Given the description of an element on the screen output the (x, y) to click on. 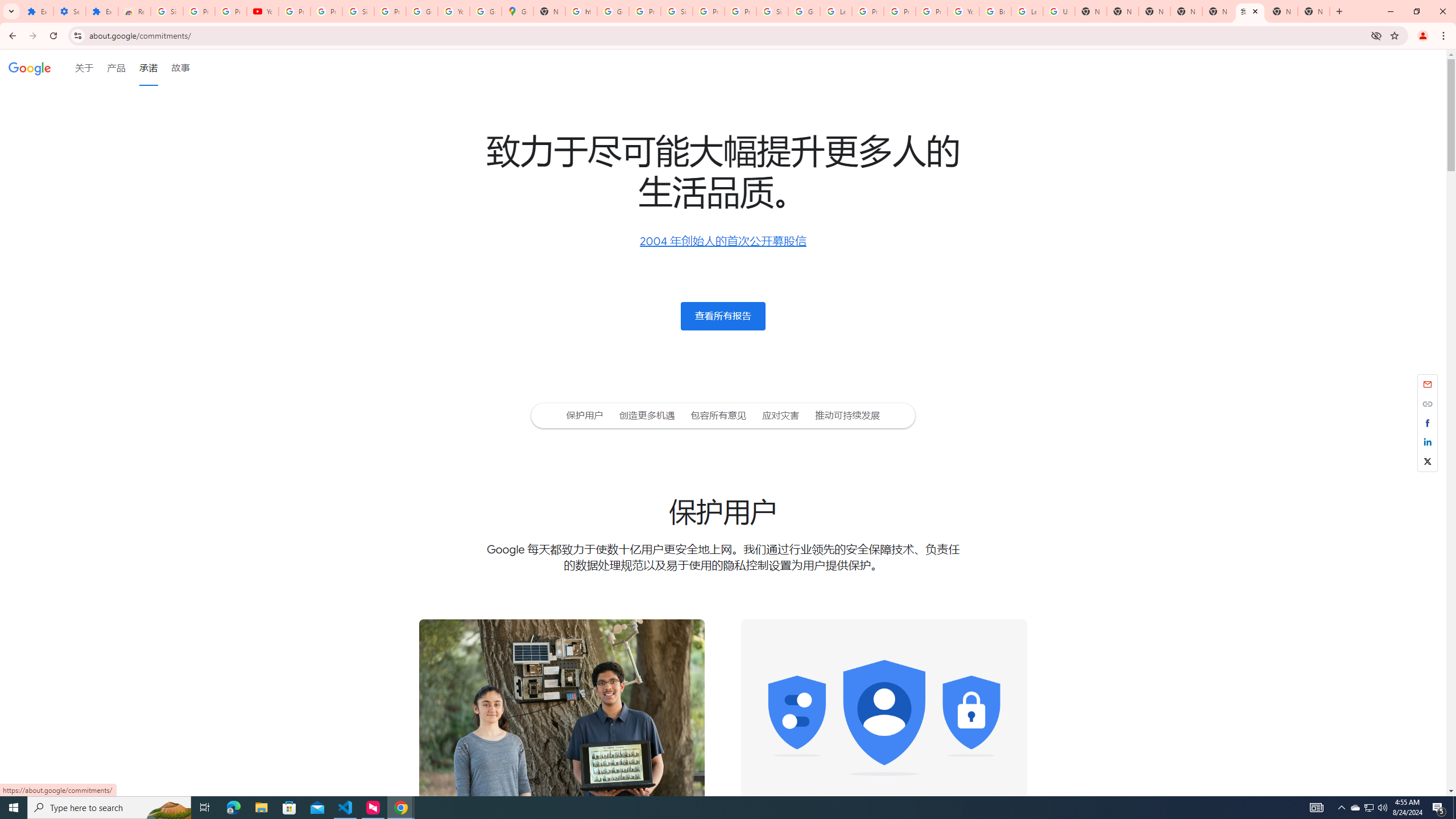
Sign in - Google Accounts (676, 11)
Google Maps (517, 11)
Sign in - Google Accounts (772, 11)
Extensions (37, 11)
